Given the description of an element on the screen output the (x, y) to click on. 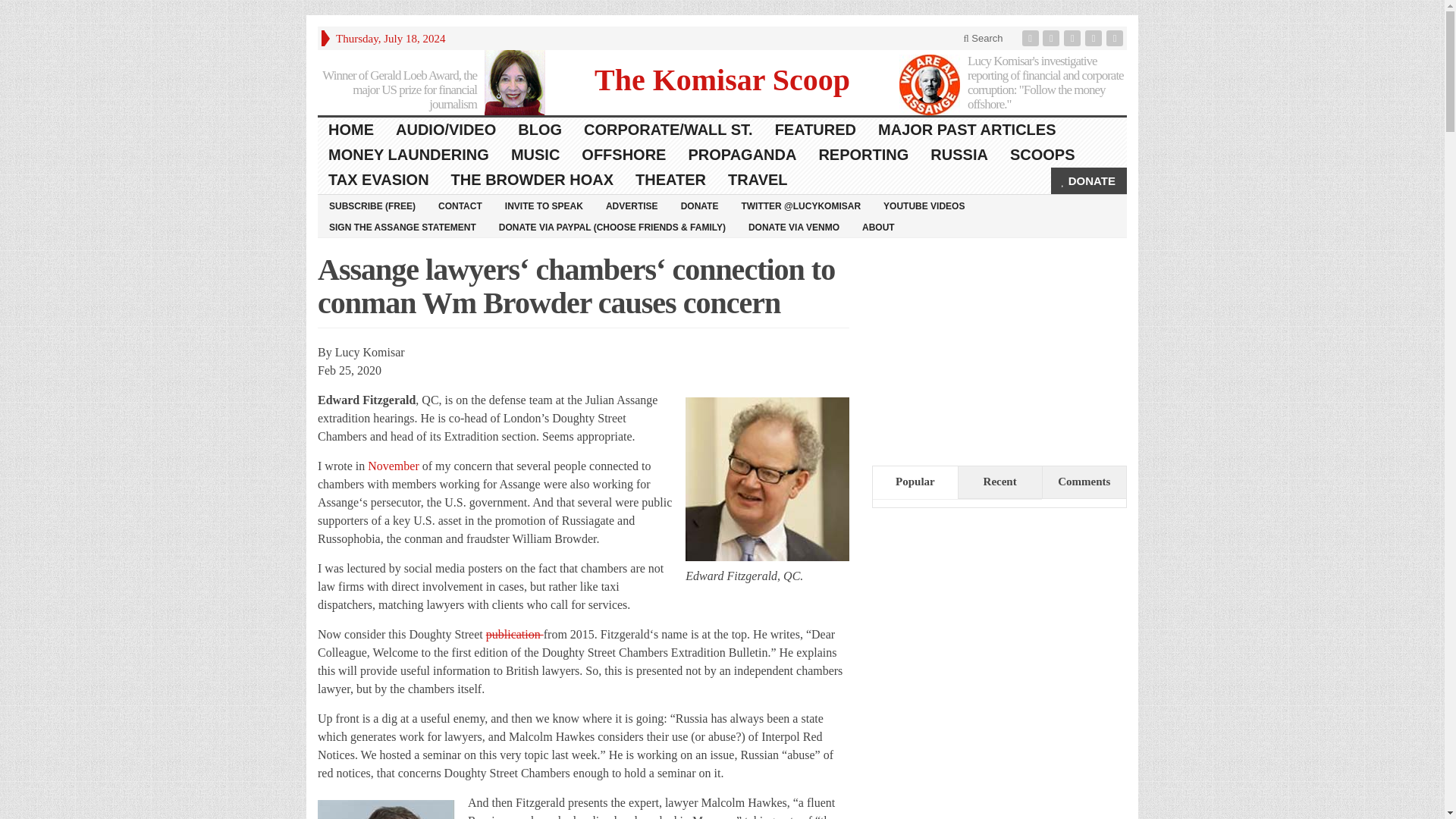
MUSIC (535, 154)
SIGN THE ASSANGE STATEMENT (402, 226)
DONATE (1088, 180)
BLOG (539, 129)
The Komisar Scoop (722, 78)
THE BROWDER HOAX (532, 179)
PROPAGANDA (742, 154)
YOUTUBE VIDEOS (923, 205)
Twitter (1052, 37)
Site feed (1115, 37)
ADVERTISE (631, 205)
Advertisement (985, 621)
MAJOR PAST ARTICLES (967, 129)
REPORTING (864, 154)
LinkedIn (1073, 37)
